Given the description of an element on the screen output the (x, y) to click on. 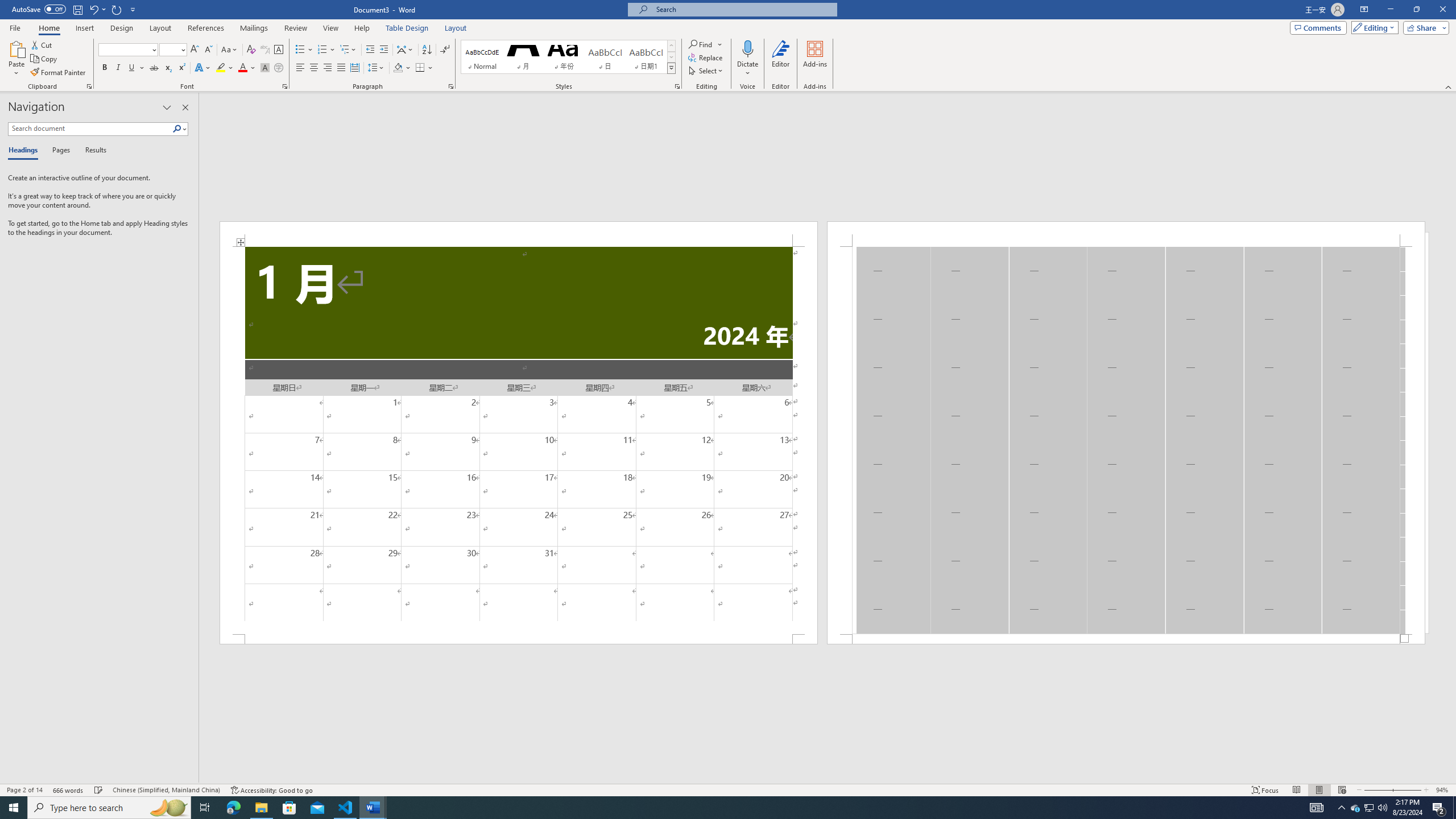
Class: NetUIImage (671, 68)
Focus  (1265, 790)
Customize Quick Access Toolbar (133, 9)
Design (122, 28)
Decrease Indent (370, 49)
Line and Paragraph Spacing (376, 67)
Mailings (253, 28)
Clear Formatting (250, 49)
Subscript (167, 67)
